Given the description of an element on the screen output the (x, y) to click on. 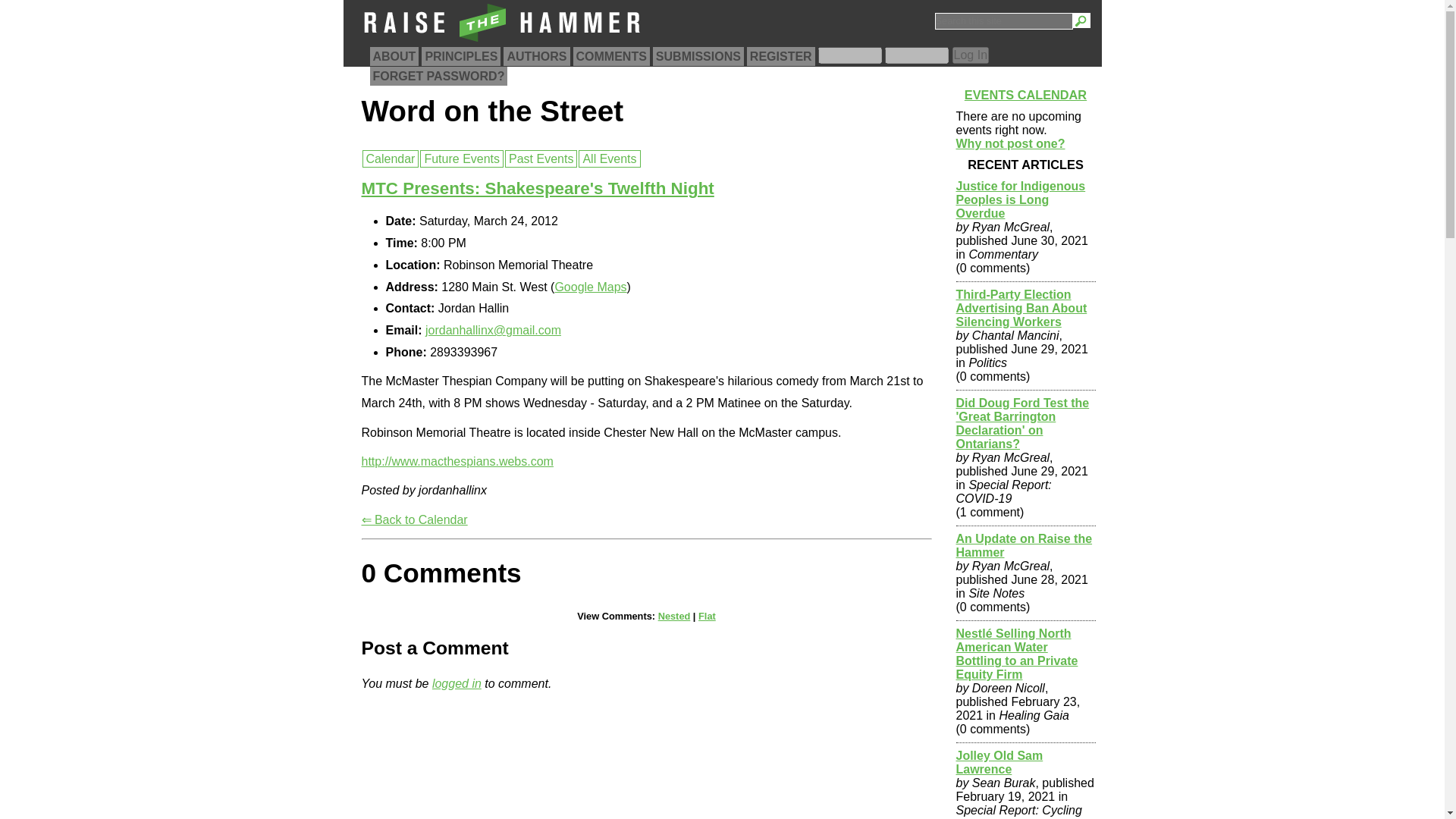
All Events (609, 158)
Future Events (461, 158)
AUTHORS (536, 56)
ABOUT (394, 56)
MTC Presents: Shakespeare's Twelfth Night (537, 188)
About Raise the Hammer (394, 56)
logged in (456, 683)
Past Events (540, 158)
Core principles of RTH (461, 56)
FORGET PASSWORD? (438, 75)
Google Maps (590, 286)
Flat (707, 615)
Return to the Events Calendar for this month (414, 519)
Submit an article for publication (698, 56)
Contributors to the site (536, 56)
